Given the description of an element on the screen output the (x, y) to click on. 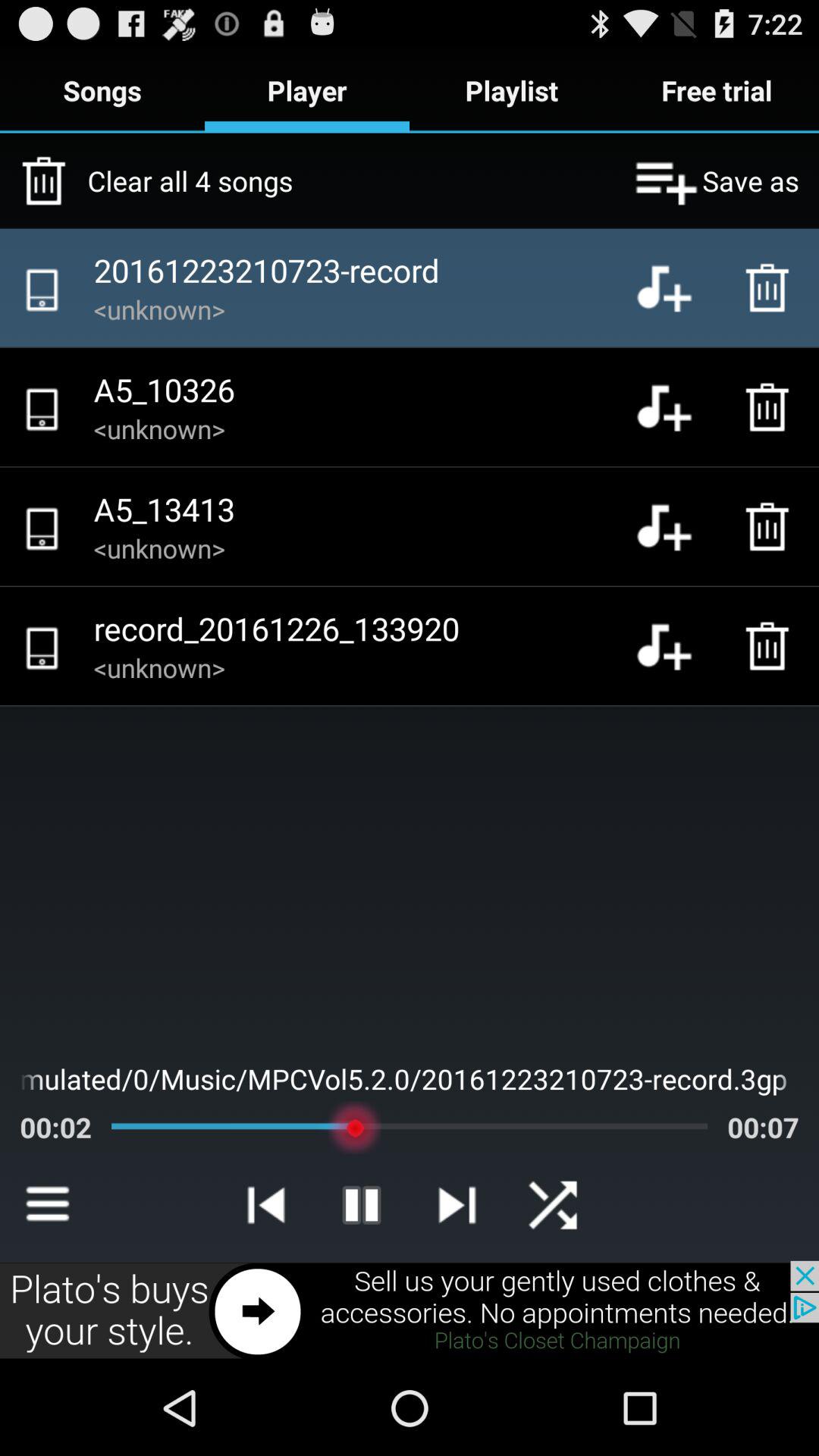
delete button (771, 645)
